Given the description of an element on the screen output the (x, y) to click on. 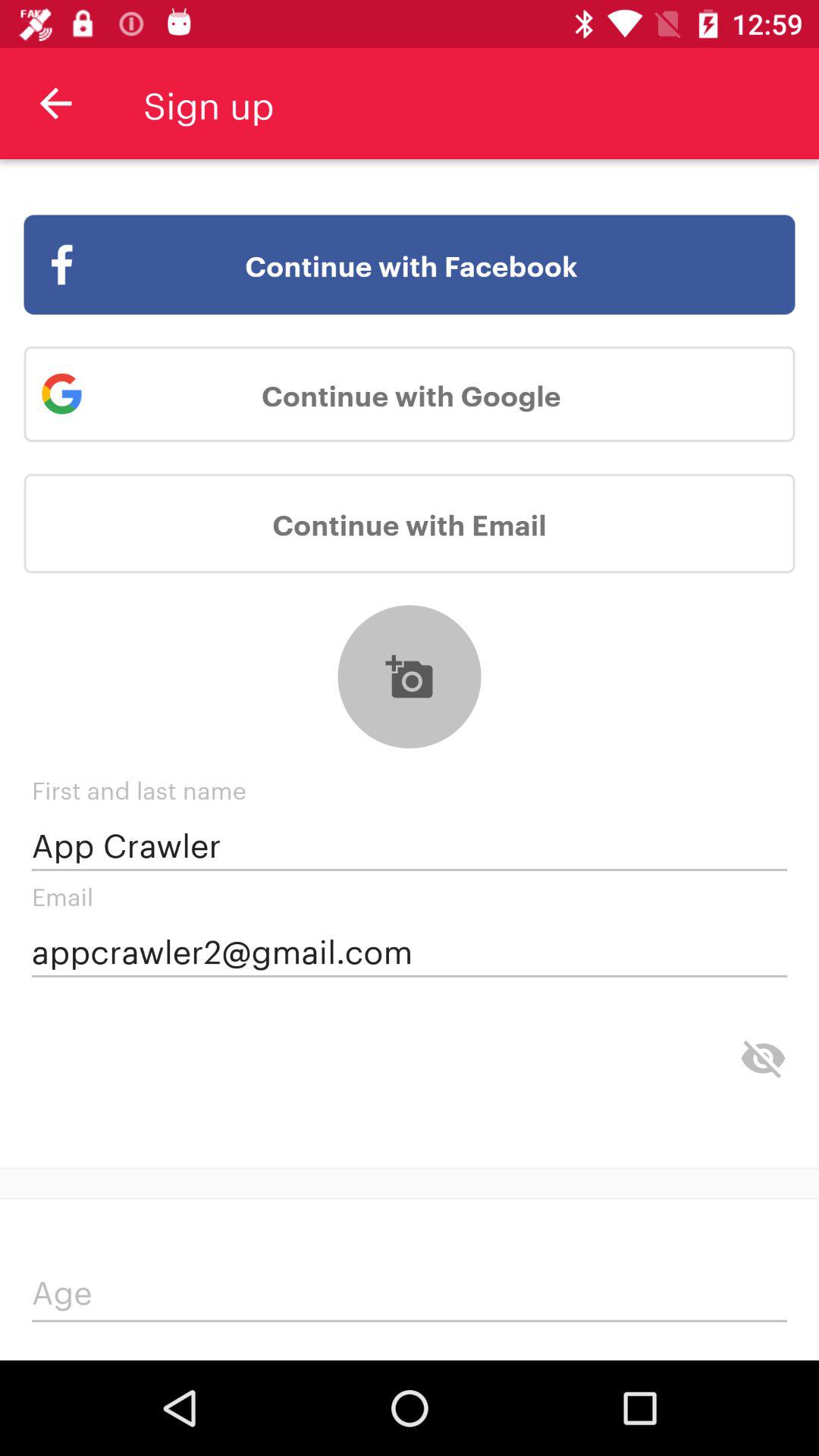
enter age (409, 1294)
